Given the description of an element on the screen output the (x, y) to click on. 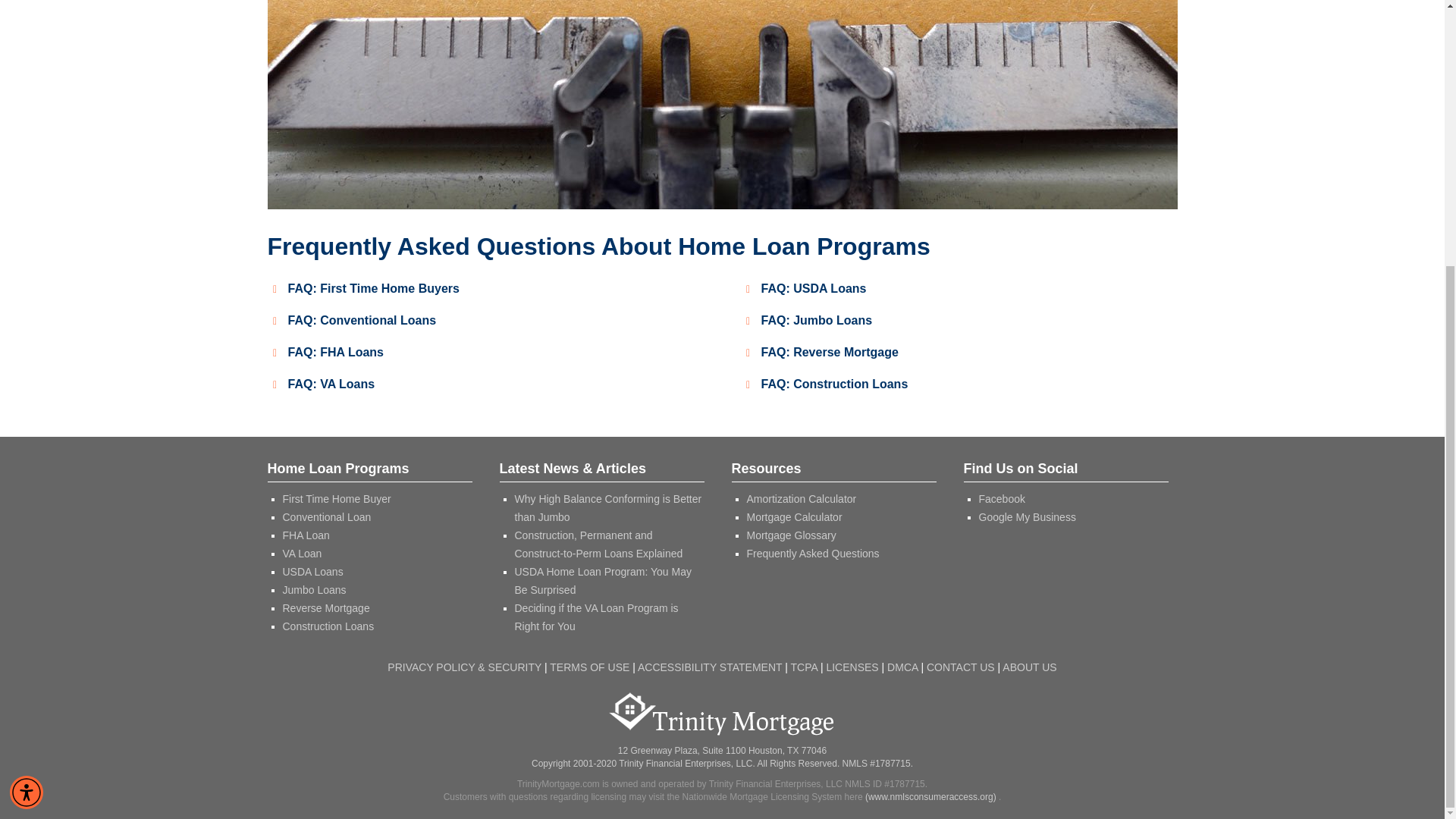
USDA Loans (312, 571)
Conventional Loan (326, 517)
Construction Loans (328, 625)
Accessibility Menu (26, 407)
Reverse Mortgage (325, 607)
VA Loan (301, 553)
First Time Home Buyer (336, 499)
FHA Loan (305, 535)
Jumbo Loans (314, 589)
